Given the description of an element on the screen output the (x, y) to click on. 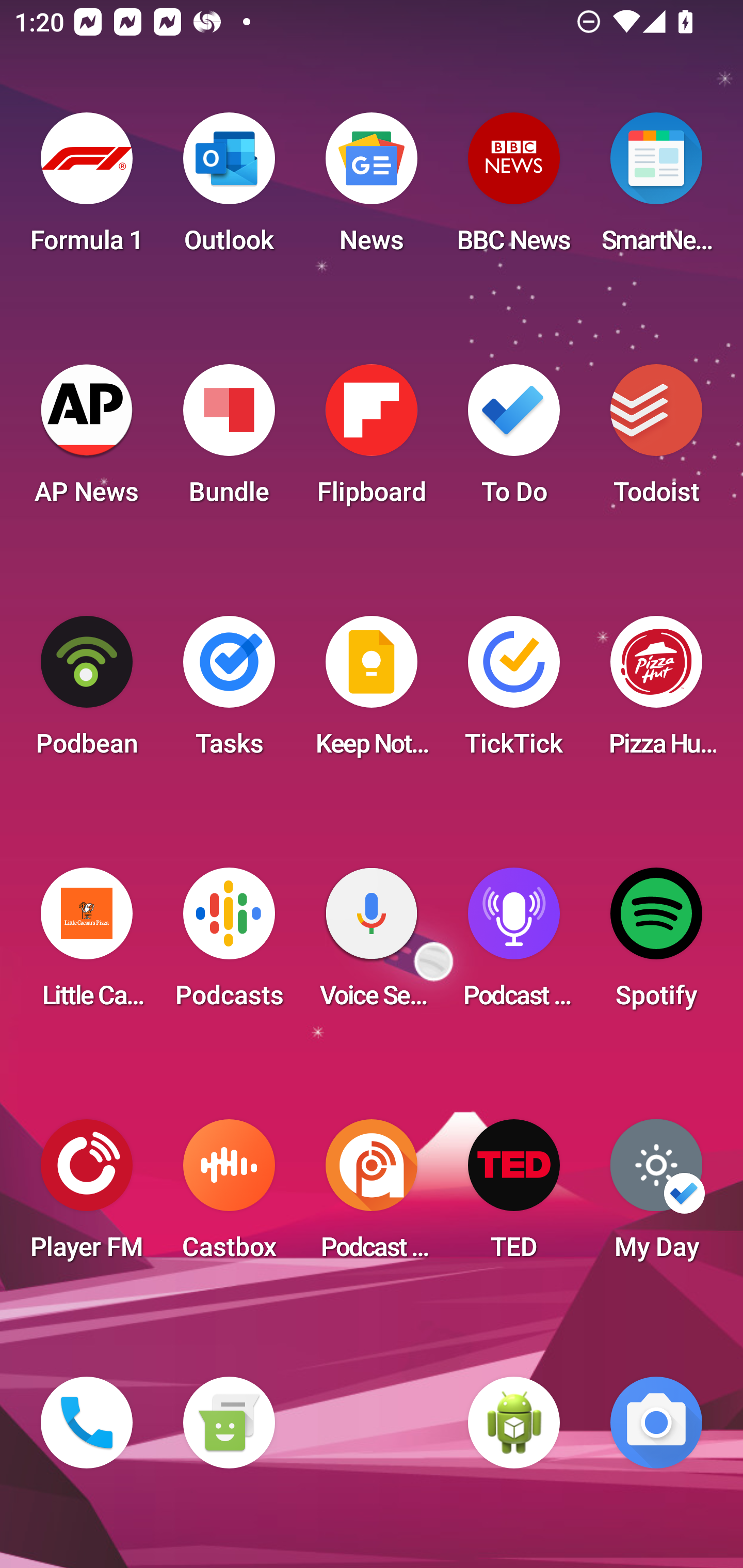
Formula 1 (86, 188)
Outlook (228, 188)
News (371, 188)
BBC News (513, 188)
SmartNews (656, 188)
AP News (86, 440)
Bundle (228, 440)
Flipboard (371, 440)
To Do (513, 440)
Todoist (656, 440)
Podbean (86, 692)
Tasks (228, 692)
Keep Notes (371, 692)
TickTick (513, 692)
Pizza Hut HK & Macau (656, 692)
Little Caesars Pizza (86, 943)
Podcasts (228, 943)
Voice Search (371, 943)
Podcast Player (513, 943)
Spotify (656, 943)
Player FM (86, 1195)
Castbox (228, 1195)
Podcast Addict (371, 1195)
TED (513, 1195)
My Day (656, 1195)
Phone (86, 1422)
Messaging (228, 1422)
WebView Browser Tester (513, 1422)
Camera (656, 1422)
